Given the description of an element on the screen output the (x, y) to click on. 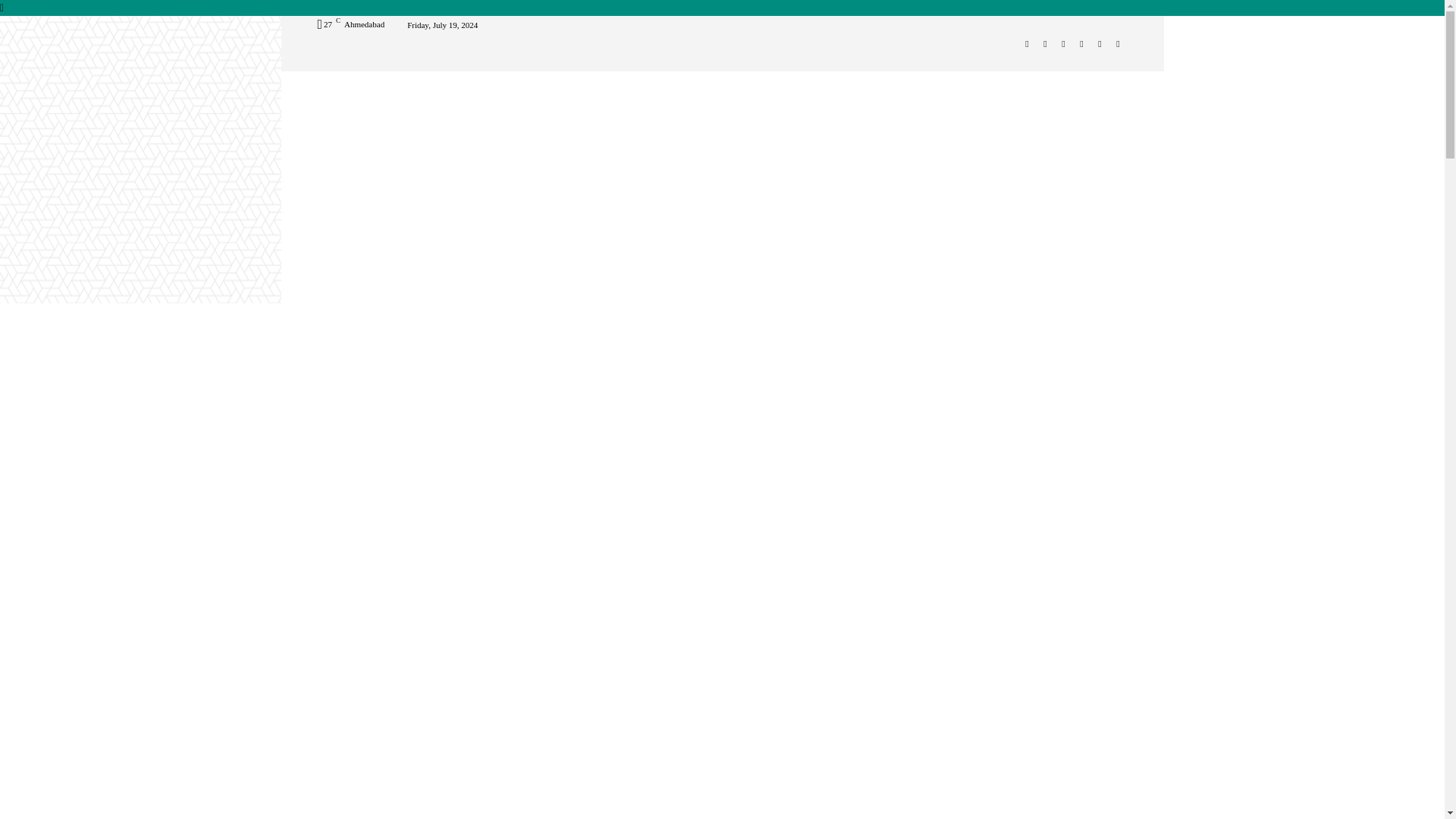
Youtube (1117, 44)
Mail (1062, 44)
Facebook (1026, 44)
Twitter (1080, 44)
WhatsApp (1099, 44)
Instagram (1044, 44)
